Given the description of an element on the screen output the (x, y) to click on. 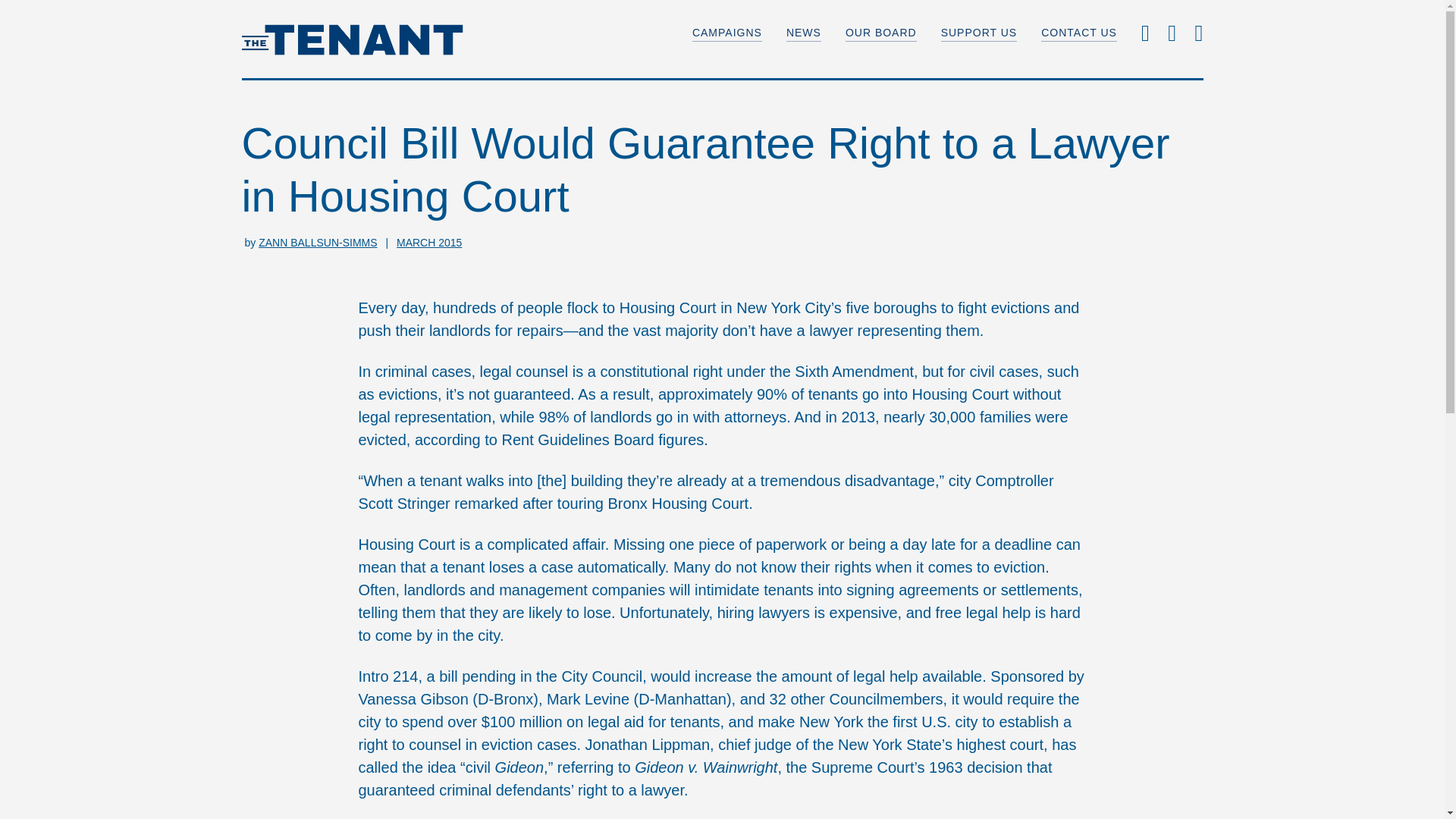
Campaigns (727, 33)
News (803, 33)
SUPPORT US (978, 33)
NEWS (803, 33)
CAMPAIGNS (727, 33)
OUR BOARD (881, 33)
Contact Us (1078, 33)
Our Board (881, 33)
Support Us (978, 33)
MARCH 2015 (428, 242)
ZANN BALLSUN-SIMMS (318, 242)
CONTACT US (1078, 33)
